Given the description of an element on the screen output the (x, y) to click on. 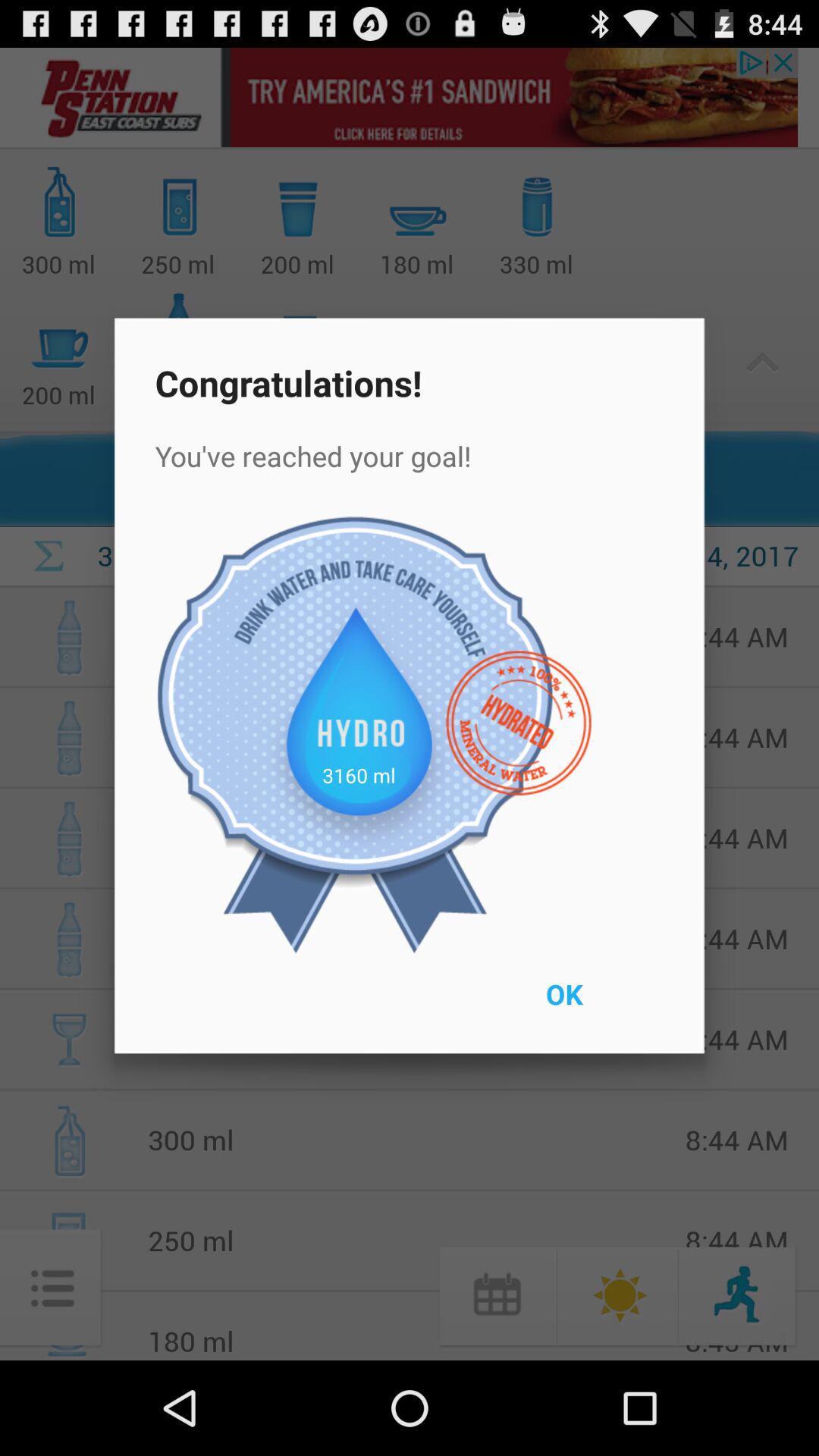
open the button at the bottom right corner (599, 1003)
